Given the description of an element on the screen output the (x, y) to click on. 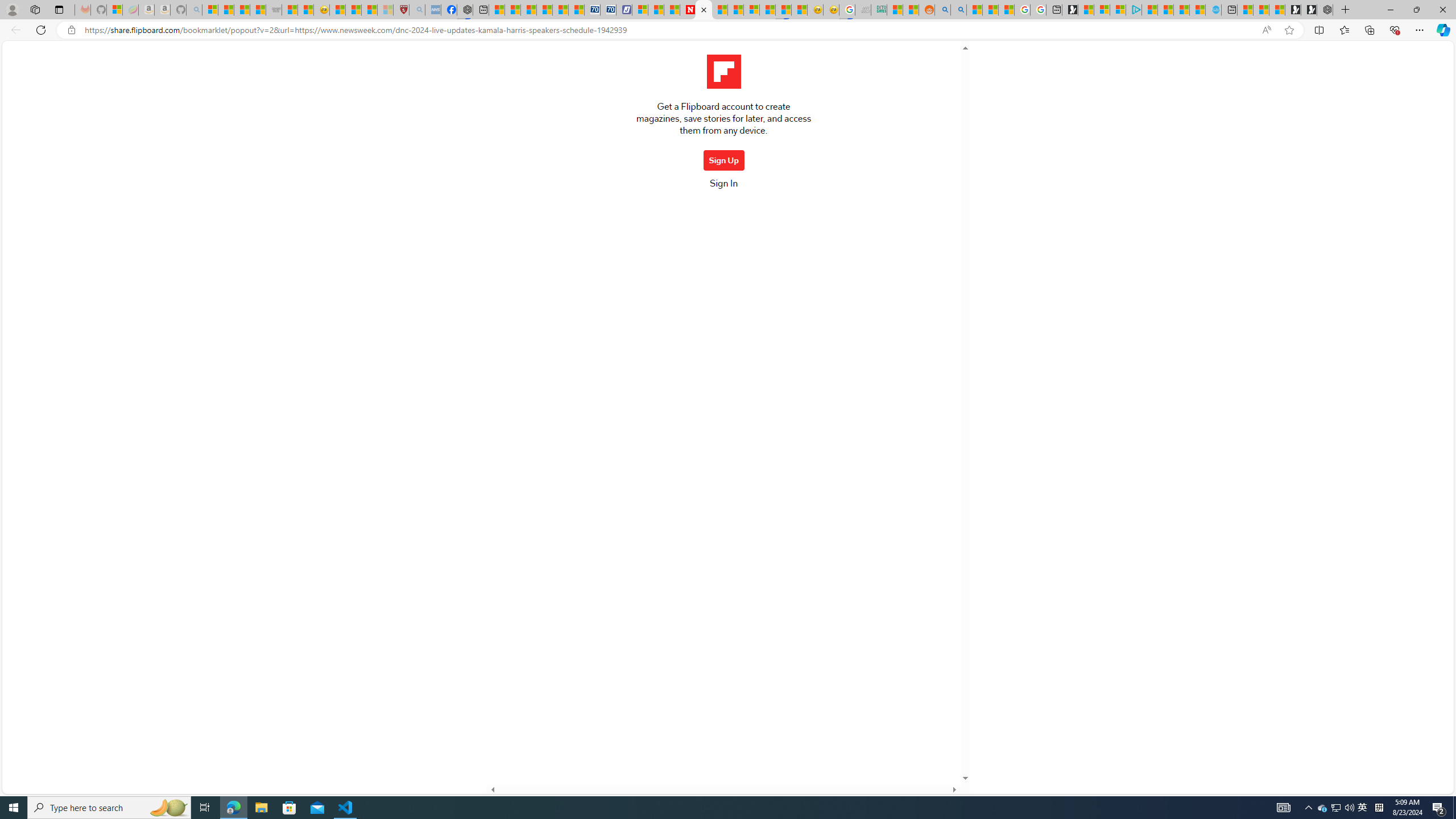
Recipes - MSN (337, 9)
Play Free Online Games | Games from Microsoft Start (1308, 9)
Cheap Hotels - Save70.com (608, 9)
12 Popular Science Lies that Must be Corrected - Sleeping (384, 9)
Trusted Community Engagement and Contributions | Guidelines (735, 9)
